Given the description of an element on the screen output the (x, y) to click on. 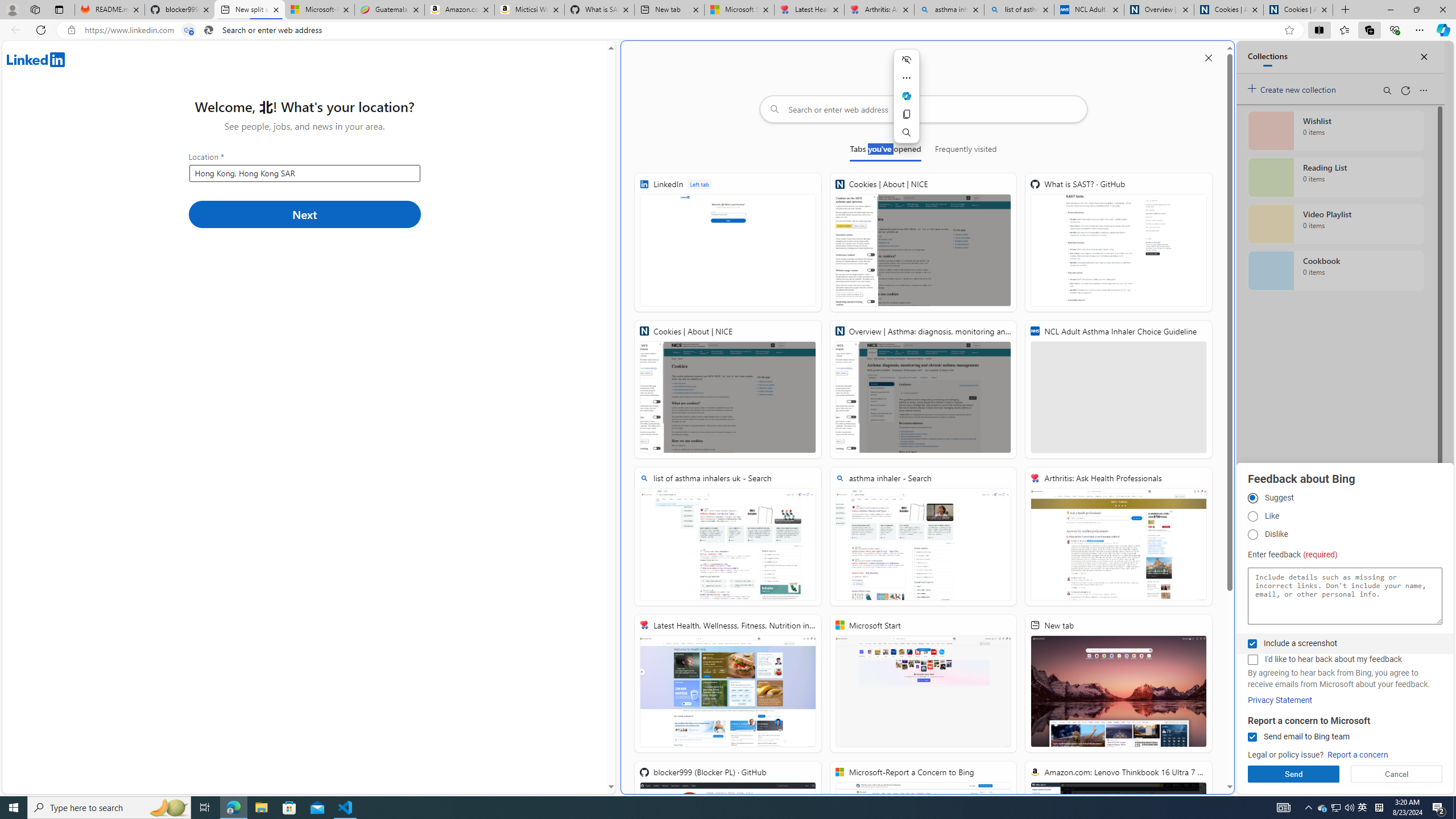
Cookies | About | NICE (727, 389)
Like (1252, 516)
Search or enter web address (922, 108)
Include a screenshot (1251, 643)
Ask Copilot (905, 95)
Search icon (208, 29)
